Given the description of an element on the screen output the (x, y) to click on. 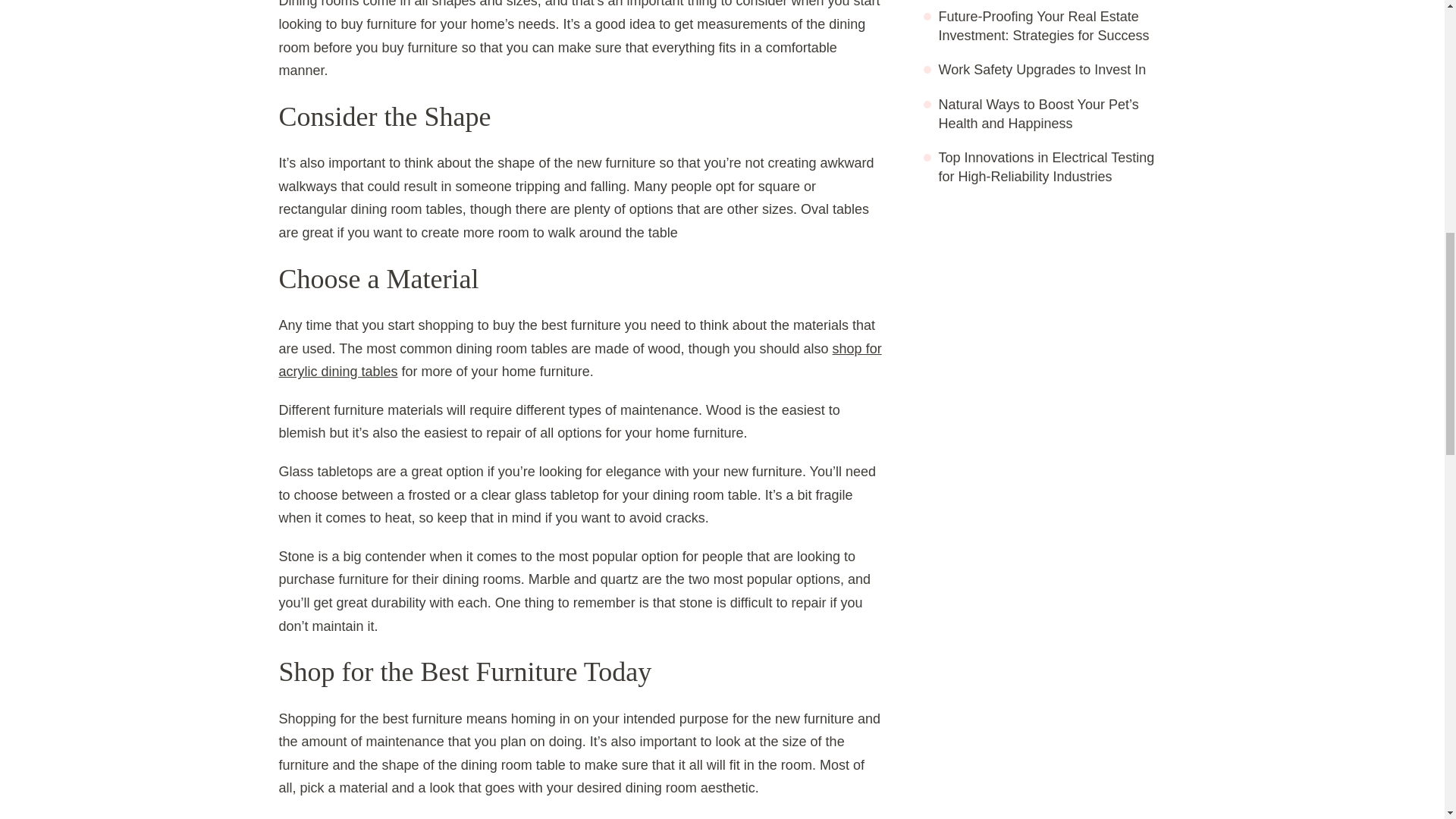
shop for acrylic dining tables (580, 360)
